Given the description of an element on the screen output the (x, y) to click on. 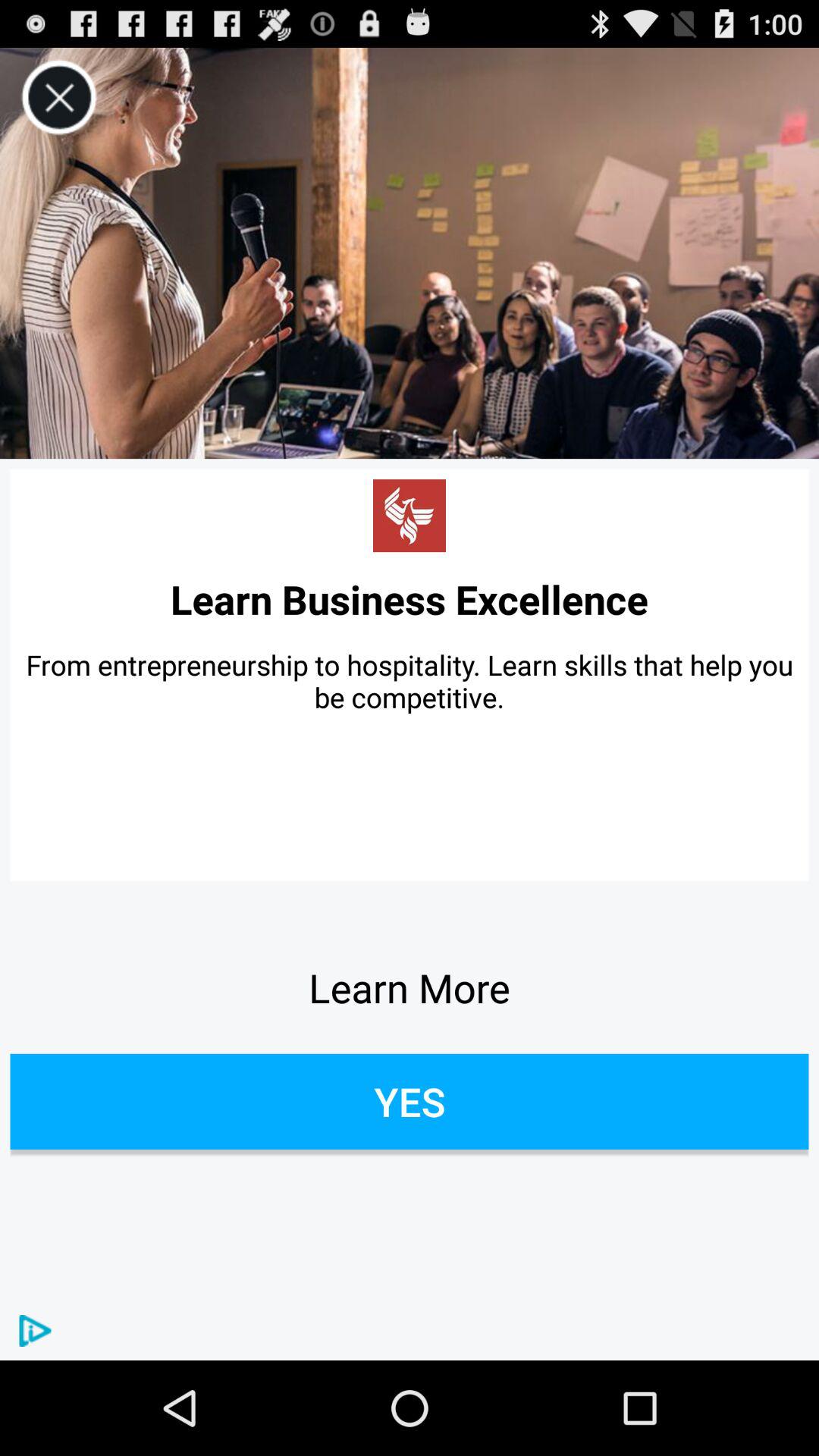
press the app above the from entrepreneurship to item (409, 598)
